Given the description of an element on the screen output the (x, y) to click on. 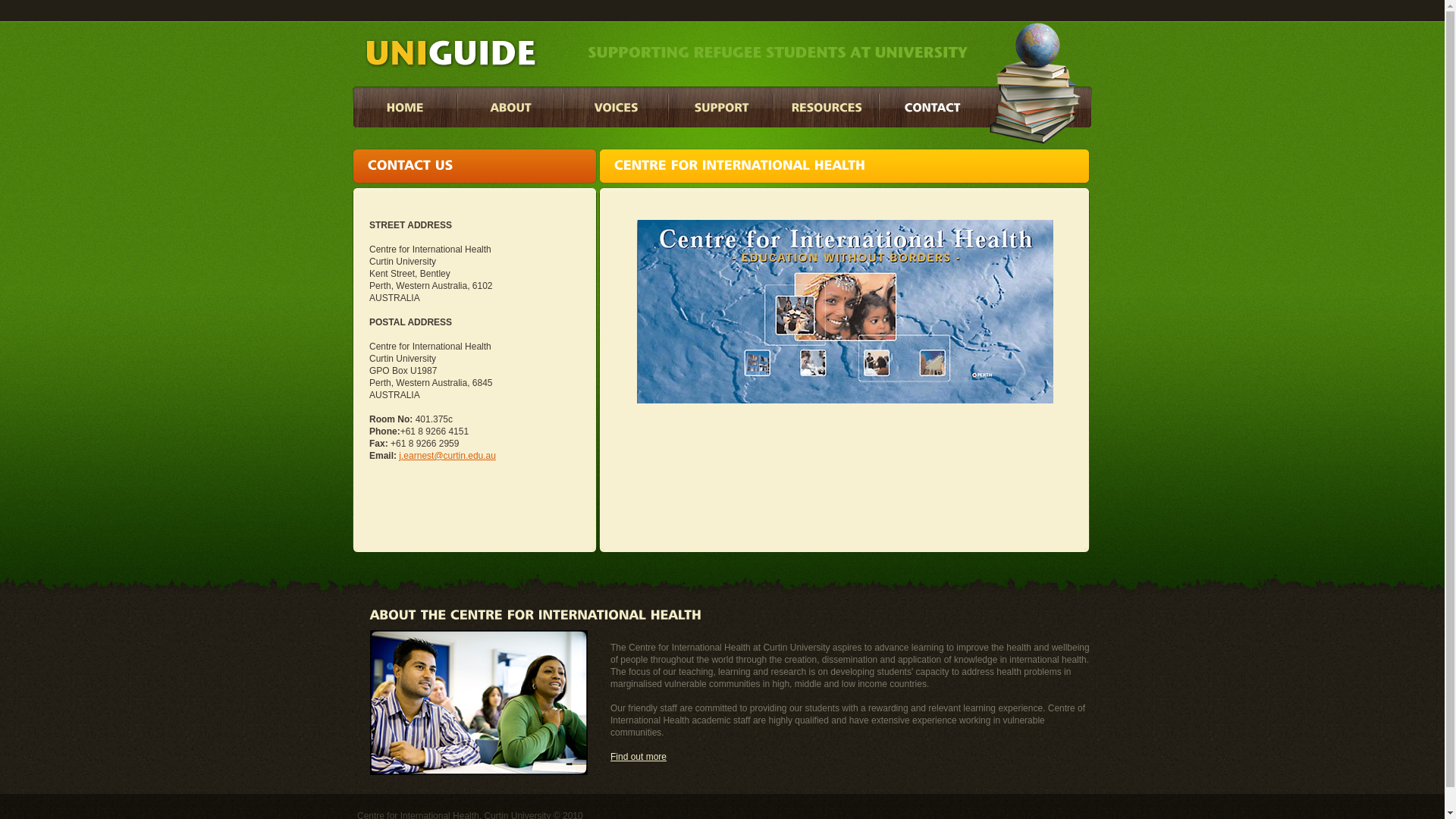
Find out more Element type: text (638, 756)
j.earnest@curtin.edu.au Element type: text (446, 455)
